Given the description of an element on the screen output the (x, y) to click on. 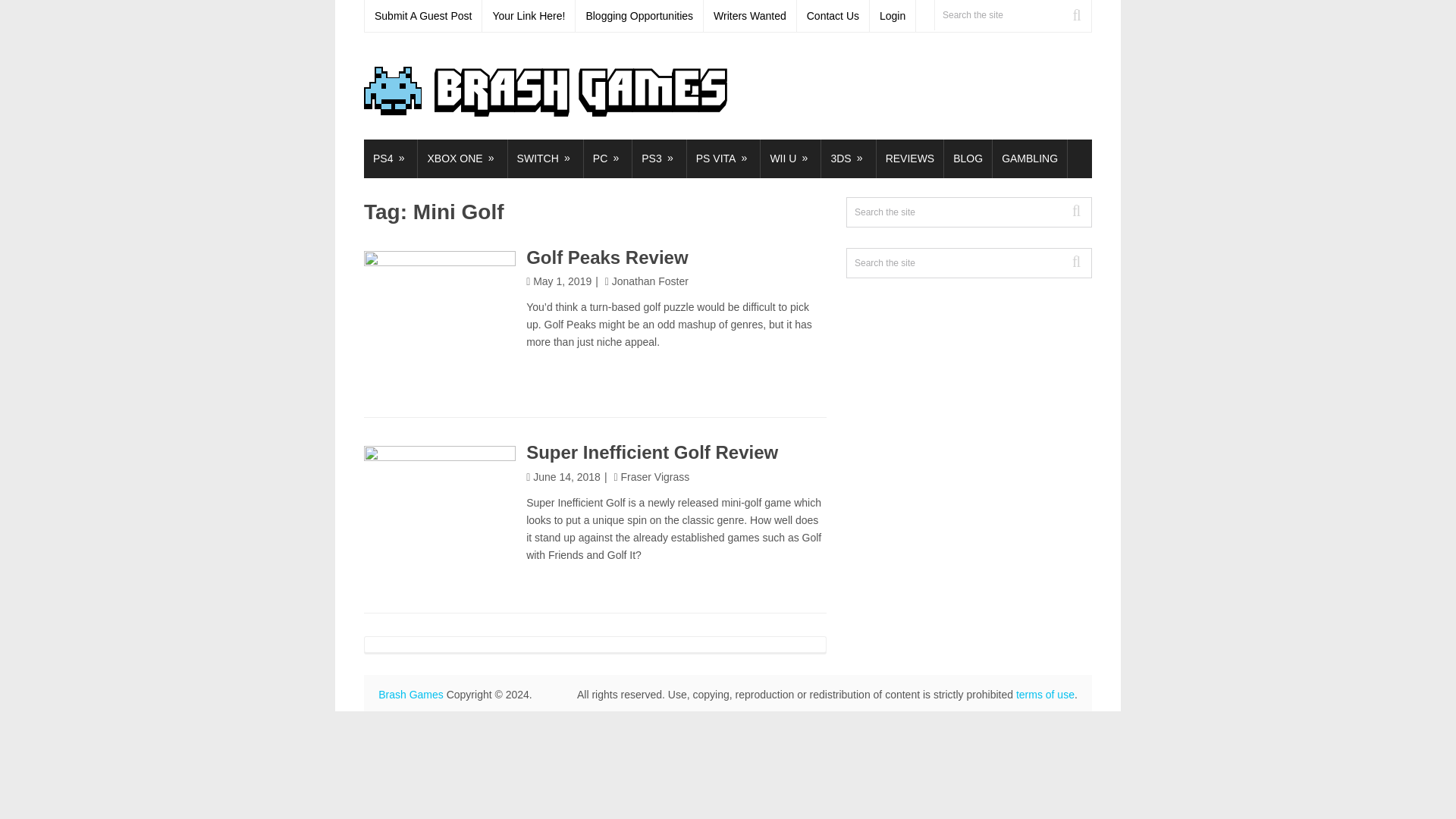
BLOG (967, 158)
Submit A Guest Post (423, 15)
PS VITA (723, 158)
Your Link Here! (528, 15)
Blogging Opportunities (639, 15)
3DS (848, 158)
XBOX ONE (461, 158)
PS4 (390, 158)
WII U (790, 158)
SWITCH (545, 158)
